Given the description of an element on the screen output the (x, y) to click on. 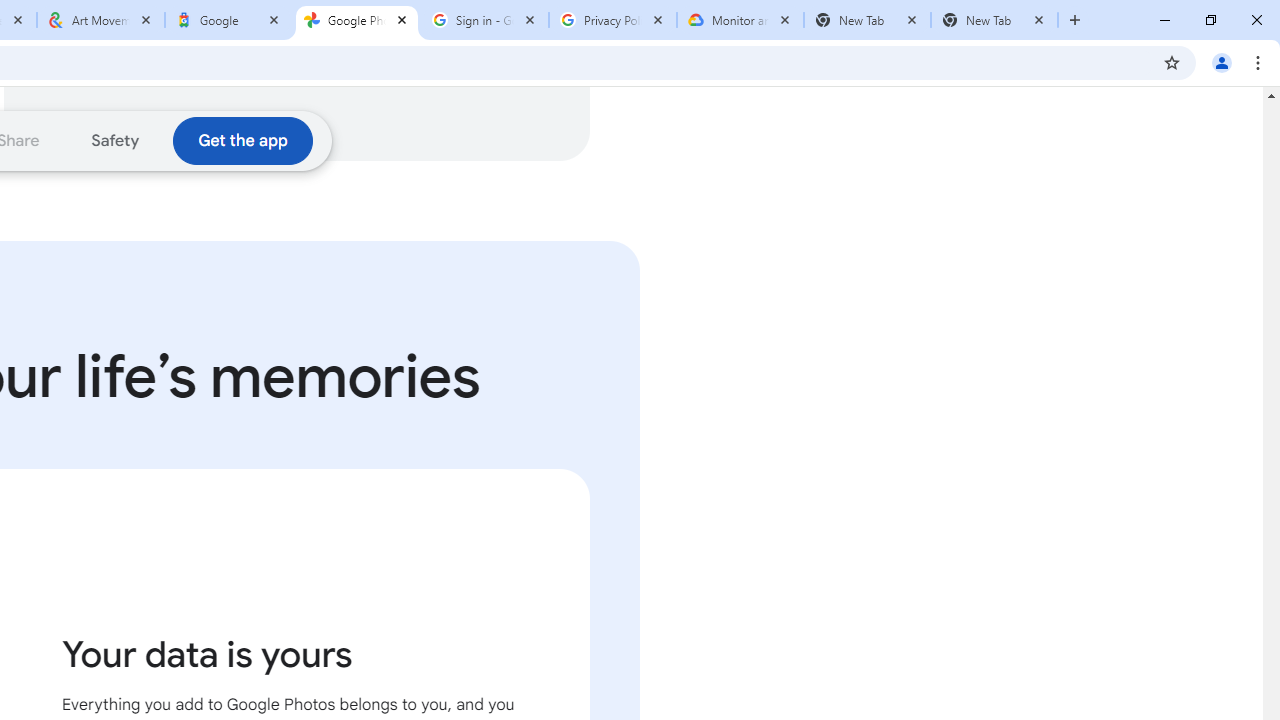
Go to section: Safety (115, 140)
